Given the description of an element on the screen output the (x, y) to click on. 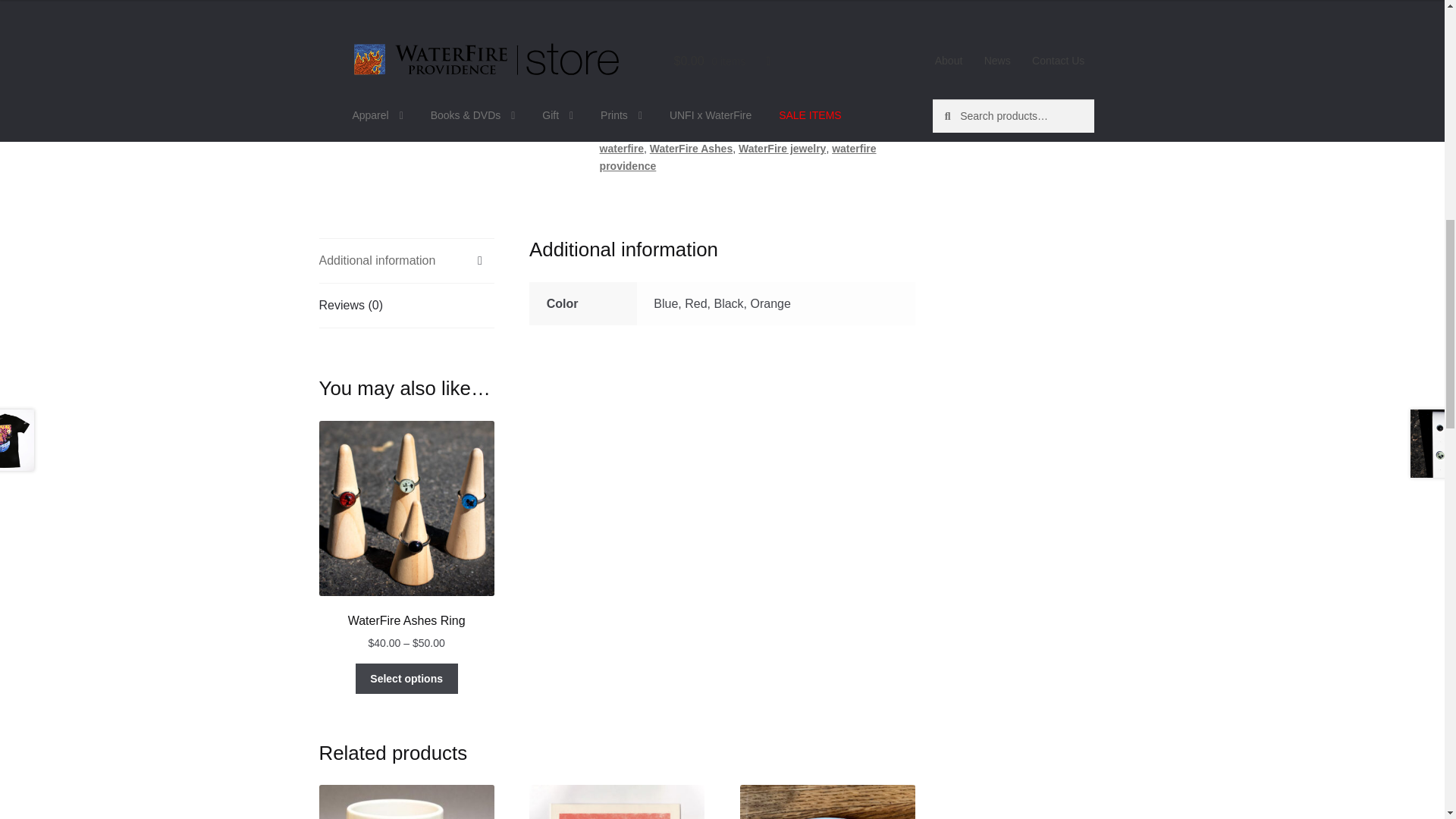
1 (624, 5)
